Given the description of an element on the screen output the (x, y) to click on. 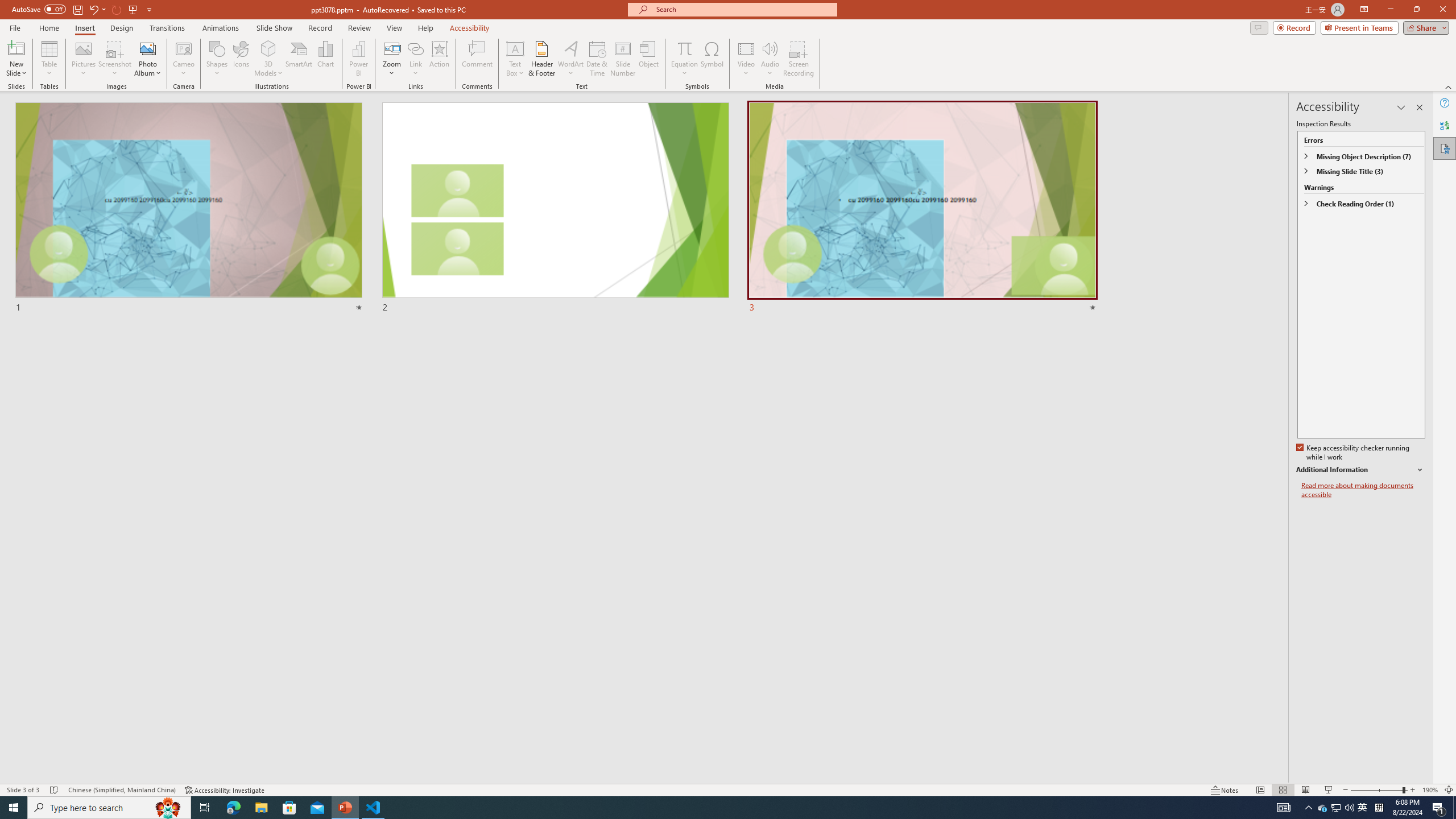
Chart... (325, 58)
Equation (683, 58)
3D Models (268, 58)
Read more about making documents accessible (1363, 489)
Cameo (183, 48)
Icons (240, 58)
Audio (769, 58)
